Given the description of an element on the screen output the (x, y) to click on. 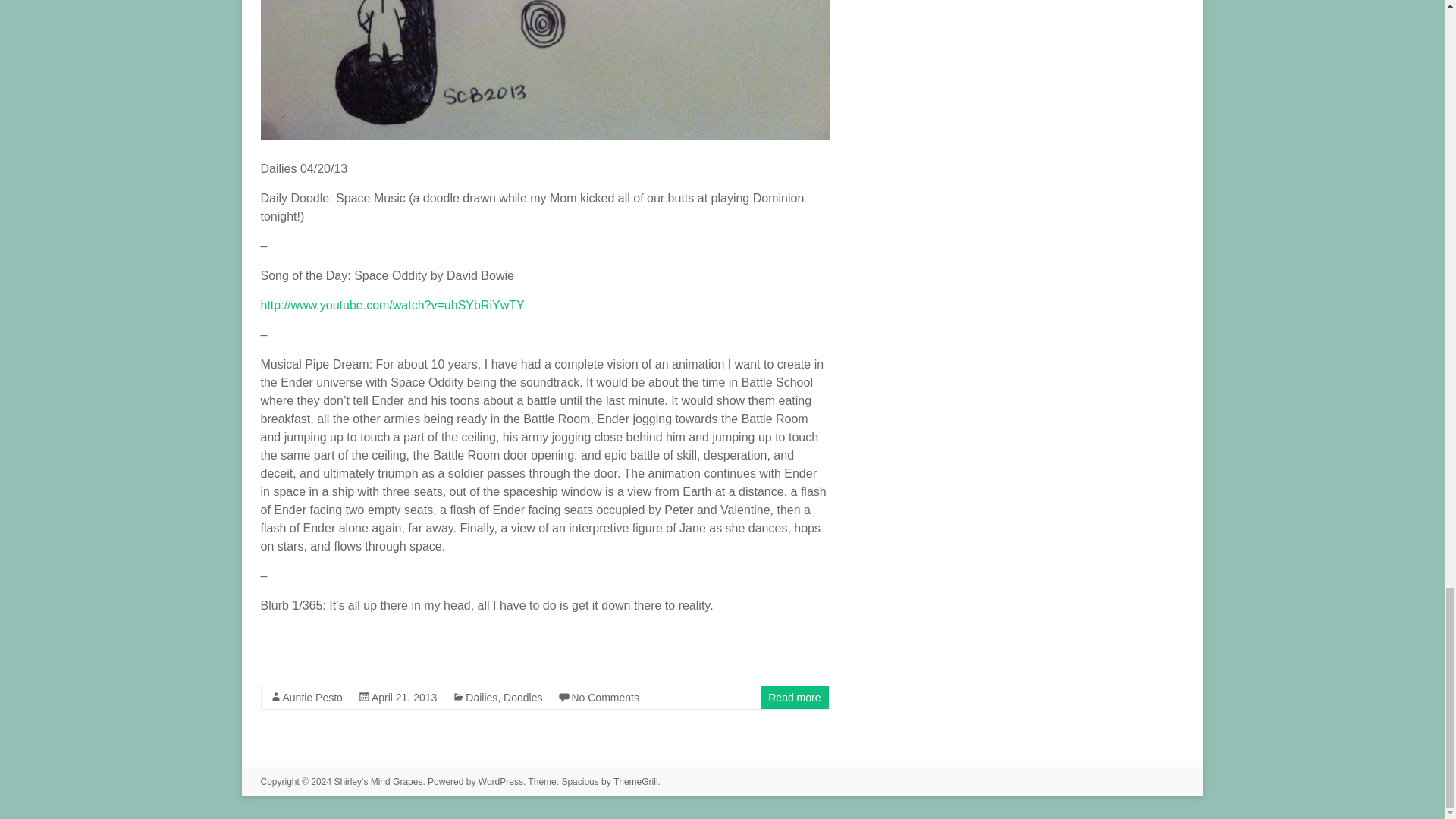
Auntie Pesto (312, 697)
Dailies (481, 697)
8:36 am (403, 697)
April 21, 2013 (403, 697)
ThemeGrill (635, 781)
ThemeGrill (635, 781)
Read more (794, 697)
Shirley's Mind Grapes (377, 781)
WordPress (500, 781)
WordPress (500, 781)
